Given the description of an element on the screen output the (x, y) to click on. 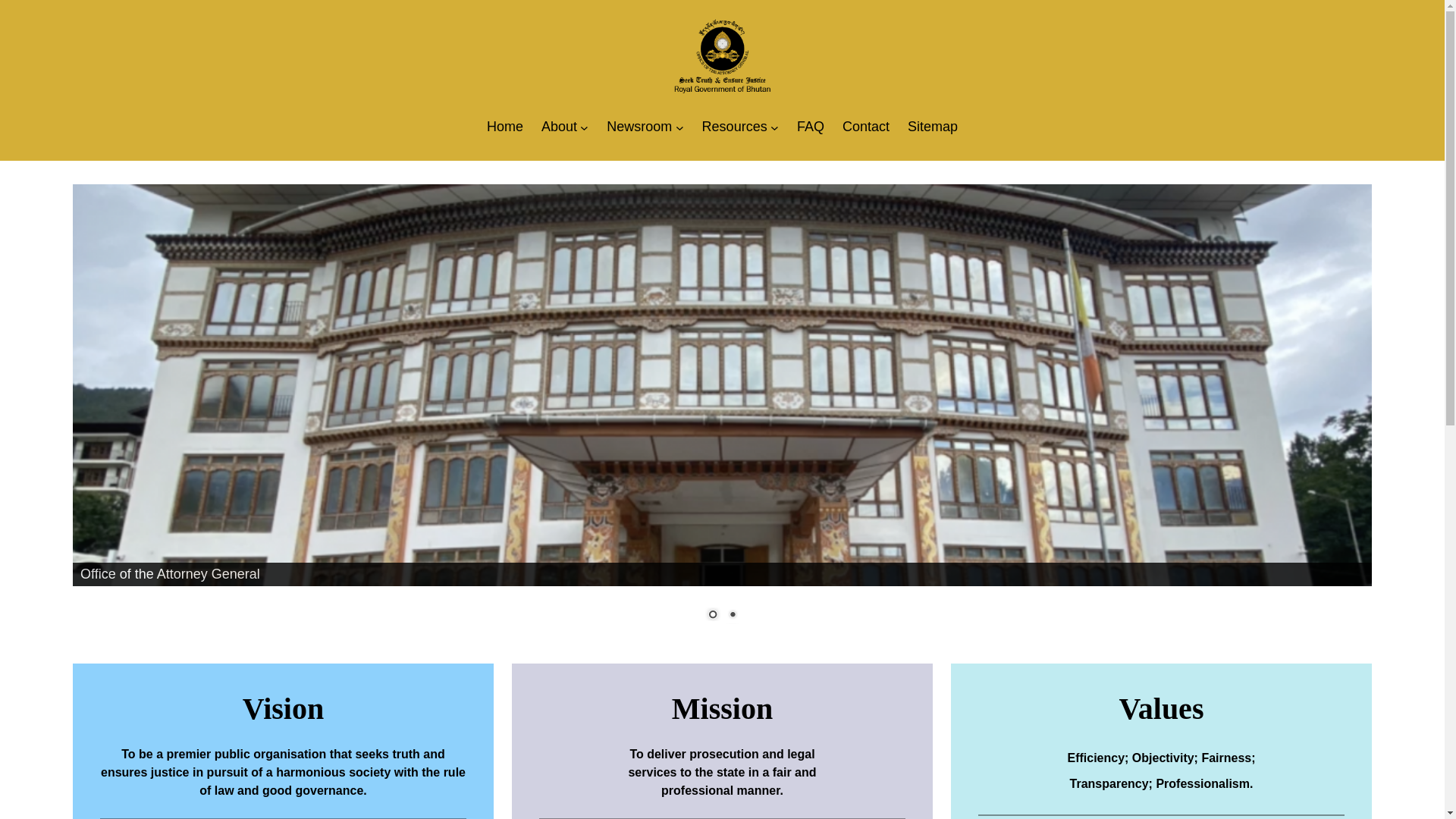
Home Element type: text (504, 126)
Resources Element type: text (734, 126)
Newsroom Element type: text (638, 126)
About Element type: text (559, 126)
1 Element type: text (711, 615)
2 Element type: text (731, 615)
Contact Element type: text (865, 126)
FAQ Element type: text (810, 126)
Sitemap Element type: text (932, 126)
